Given the description of an element on the screen output the (x, y) to click on. 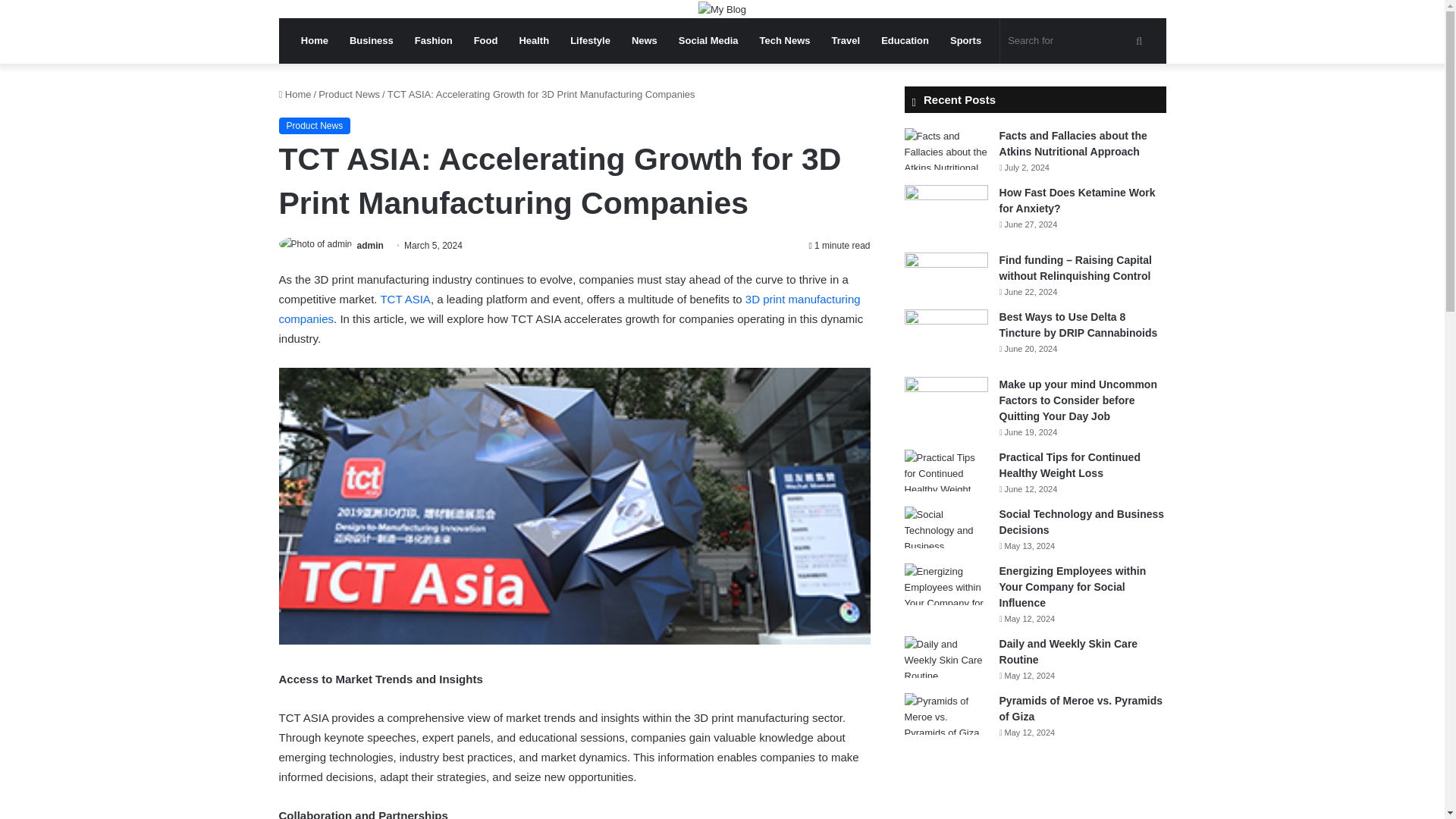
3D print manufacturing companies (569, 308)
Travel (845, 40)
Education (904, 40)
Product News (349, 93)
Search for (1077, 40)
News (644, 40)
admin (370, 245)
Social Media (708, 40)
My Blog (721, 8)
admin (370, 245)
